Given the description of an element on the screen output the (x, y) to click on. 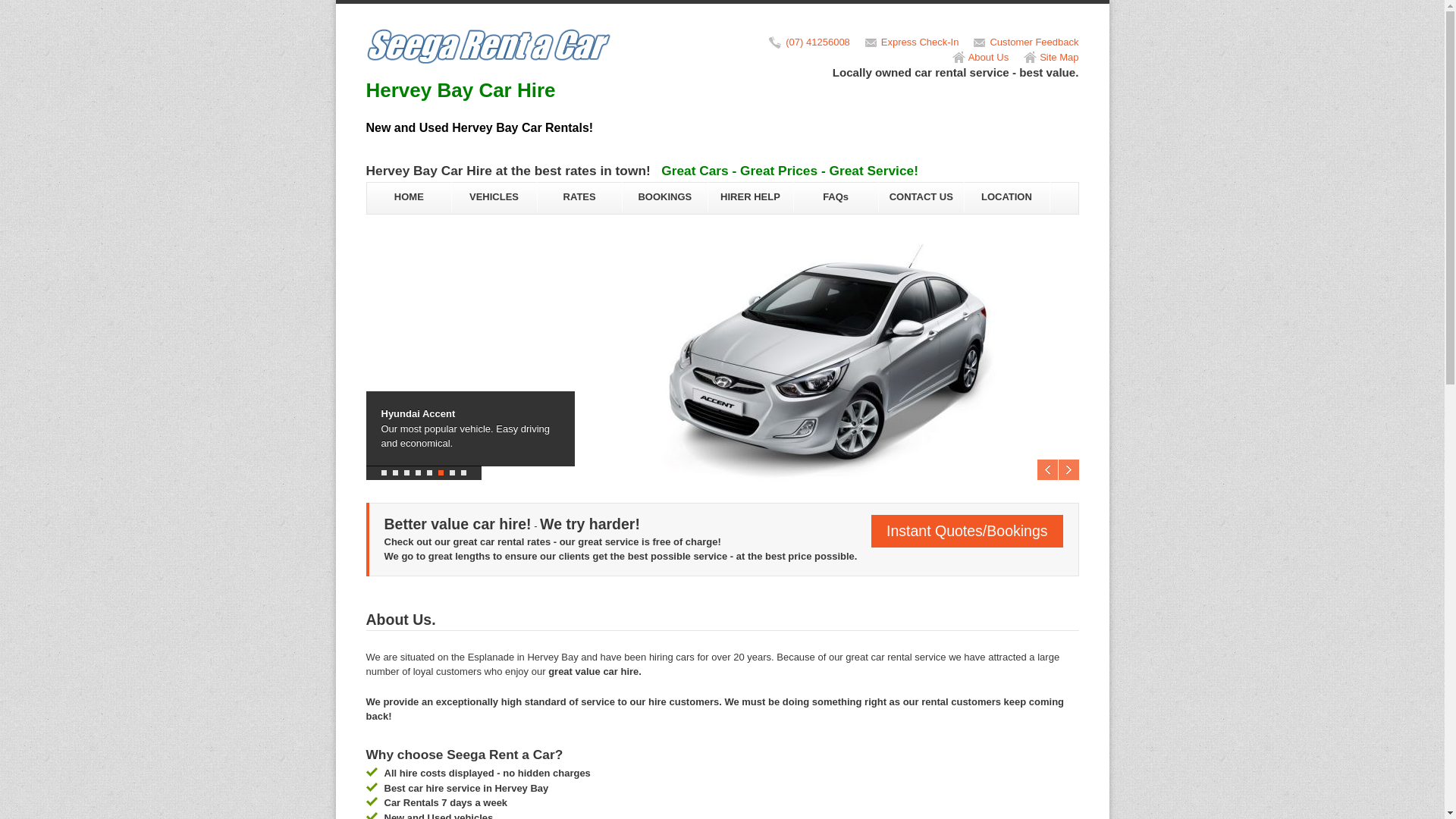
Next Element type: text (1068, 469)
HOME Element type: text (408, 197)
About Us Element type: text (988, 56)
8 Element type: text (463, 472)
RATES Element type: text (579, 197)
7 Element type: text (451, 472)
(07) 41256008 Element type: text (817, 41)
HIRER HELP Element type: text (750, 197)
4 Element type: text (417, 472)
CONTACT US Element type: text (920, 197)
1 Element type: text (382, 472)
VEHICLES Element type: text (493, 197)
Previous Element type: text (1047, 469)
2 Element type: text (395, 472)
Site Map Element type: text (1058, 56)
Instant Quotes/Bookings Element type: text (966, 530)
6 Element type: text (440, 472)
5 Element type: text (428, 472)
FAQs Element type: text (835, 197)
BOOKINGS Element type: text (664, 197)
LOCATION Element type: text (1006, 197)
Express Check-In Element type: text (920, 41)
Customer Feedback Element type: text (1033, 41)
3 Element type: text (405, 472)
